Given the description of an element on the screen output the (x, y) to click on. 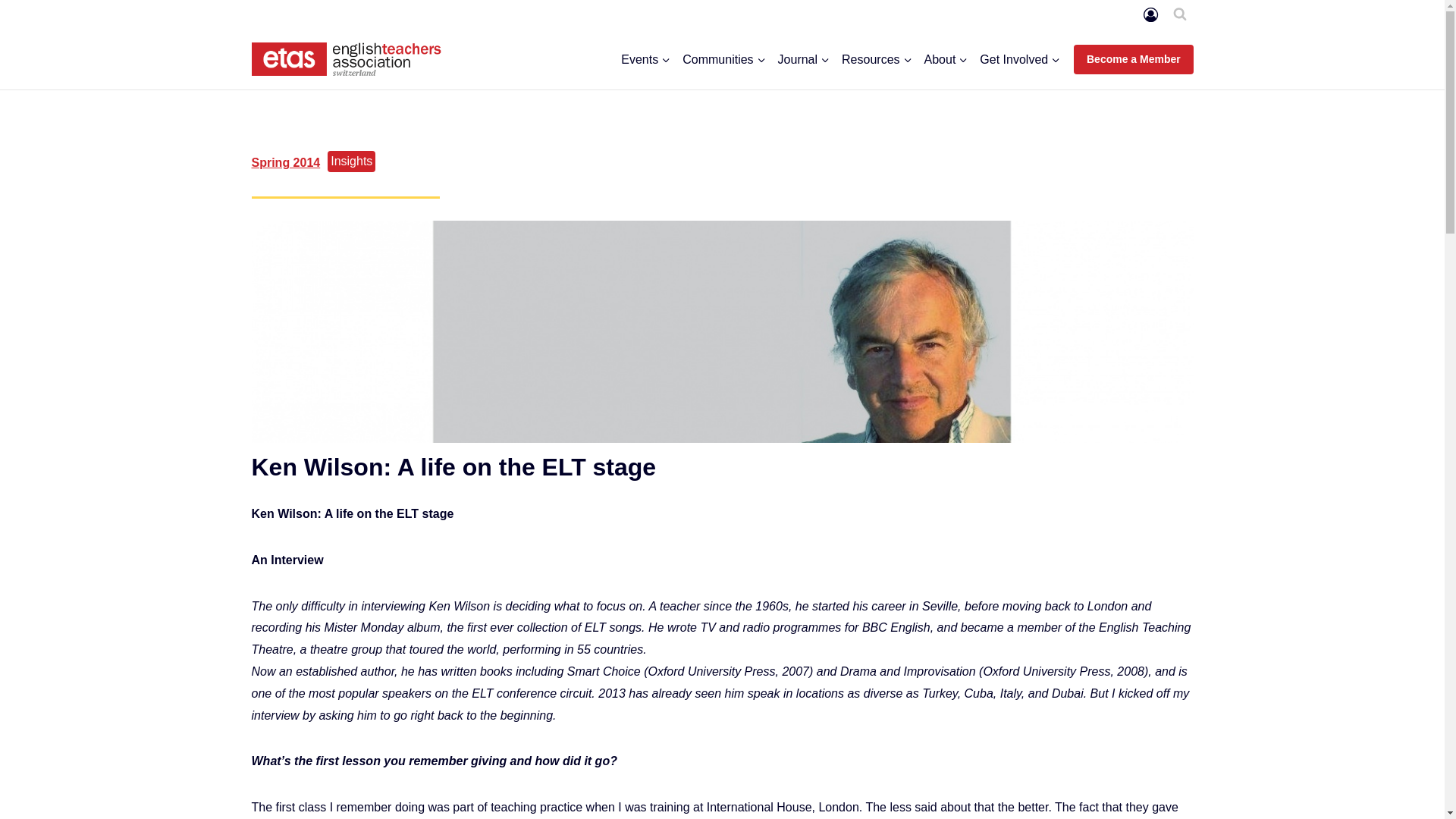
Events (645, 59)
Journal (803, 59)
Resources (876, 59)
Communities (724, 59)
About (946, 59)
